Given the description of an element on the screen output the (x, y) to click on. 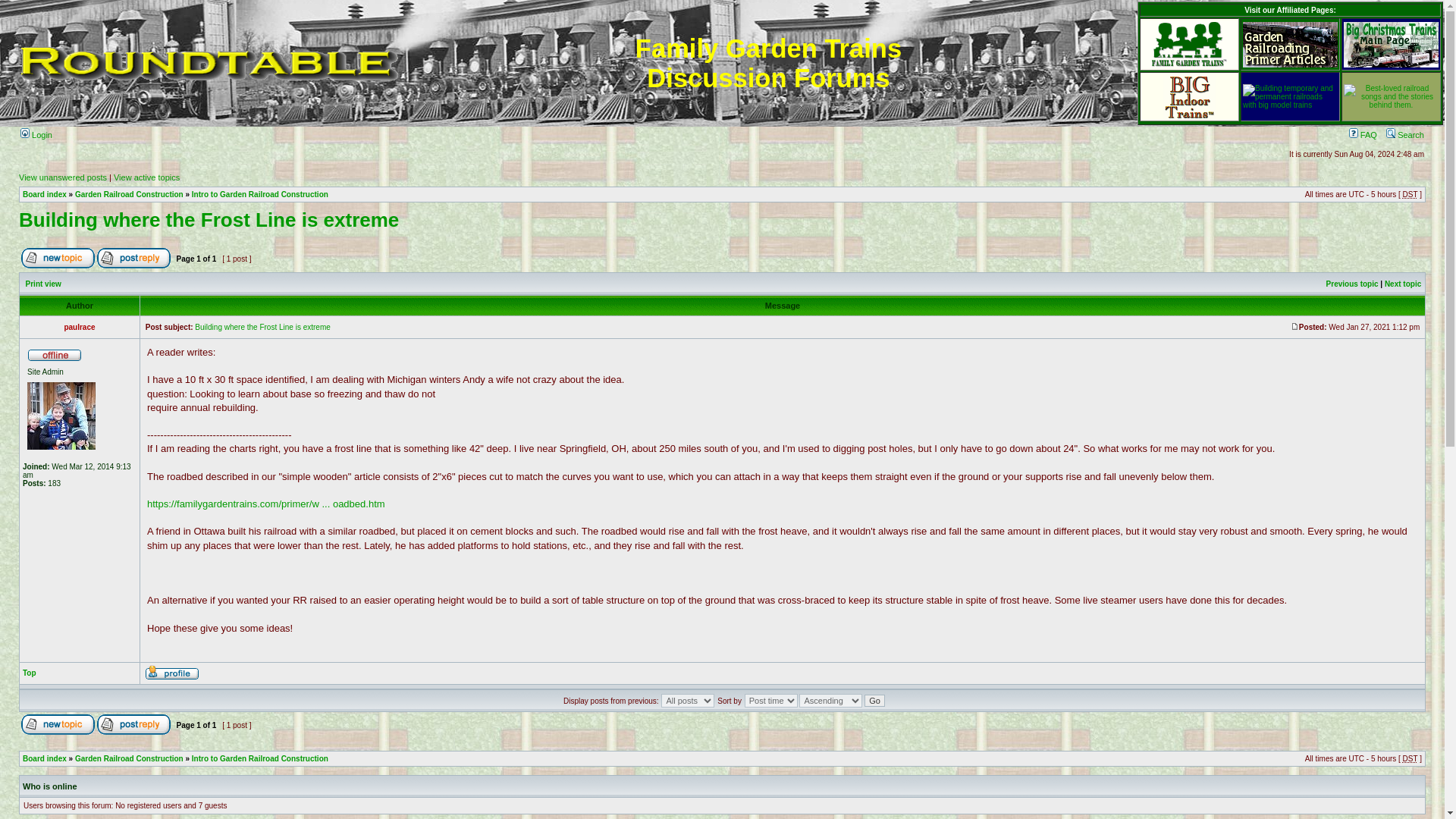
Daylight Saving Time (1410, 194)
Reply to topic (133, 258)
Top (29, 673)
Post (1294, 326)
Go (874, 700)
Go (874, 700)
Daylight Saving Time (1410, 758)
Building where the Frost Line is extreme (208, 219)
Offline (54, 353)
Garden Railroad Construction (129, 194)
Board index (44, 758)
Profile (171, 672)
Post new topic (57, 724)
Intro to Garden Railroad Construction (260, 194)
Search (1404, 134)
